Given the description of an element on the screen output the (x, y) to click on. 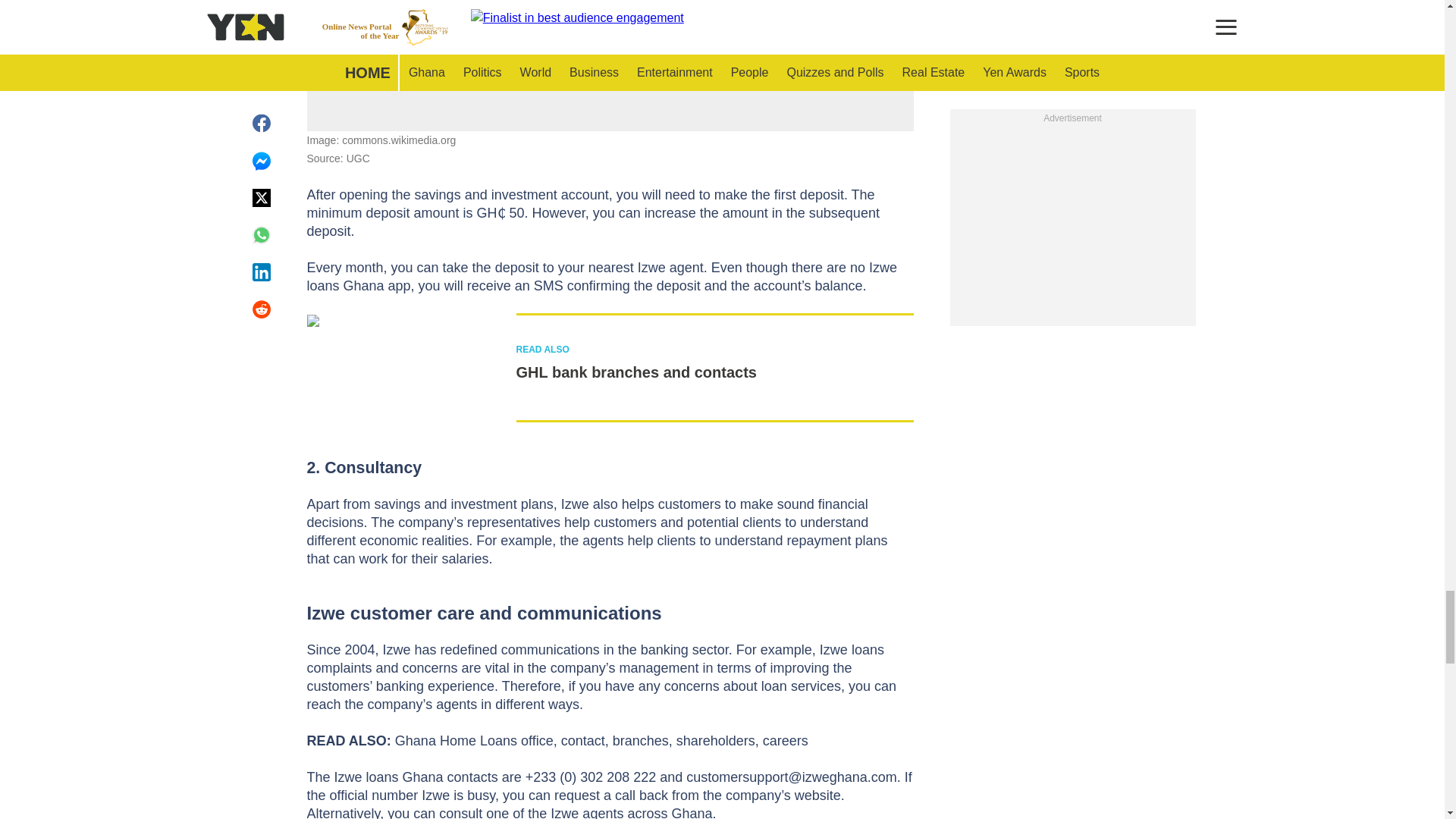
Izwe loans Ghana: services, requirements, how to apply (609, 24)
